Given the description of an element on the screen output the (x, y) to click on. 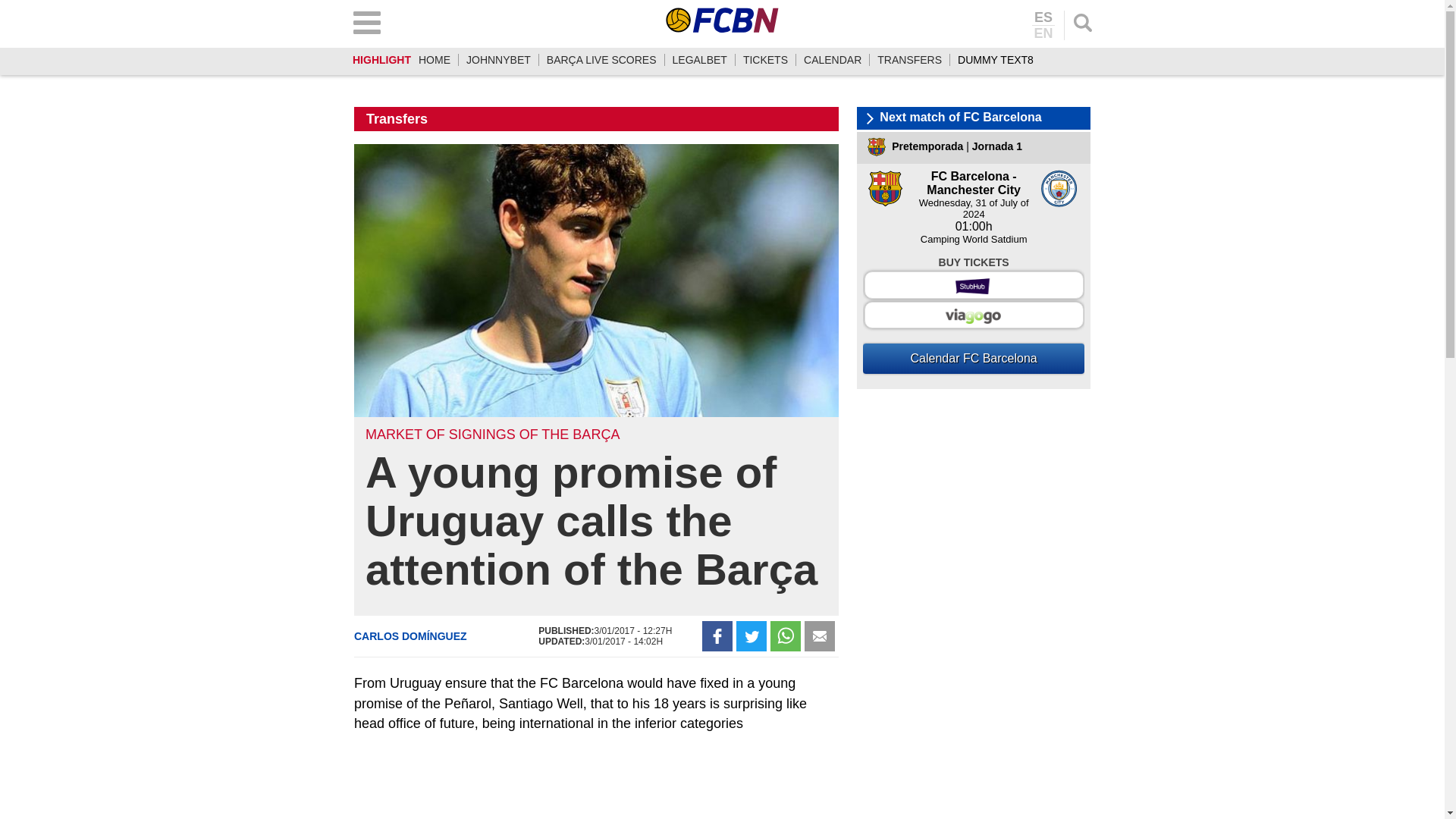
CALENDAR (832, 60)
ES (1043, 17)
CALENDAR (832, 60)
LEGALBET (699, 60)
Transfers (909, 60)
FCBN (721, 19)
Castellano (1043, 17)
HOME (434, 60)
JOHNNYBET (498, 60)
TICKETS (764, 60)
JOHNNEYBET (498, 60)
TICKETS (764, 60)
English (1043, 32)
Home (434, 60)
LEGALBET (699, 60)
